Given the description of an element on the screen output the (x, y) to click on. 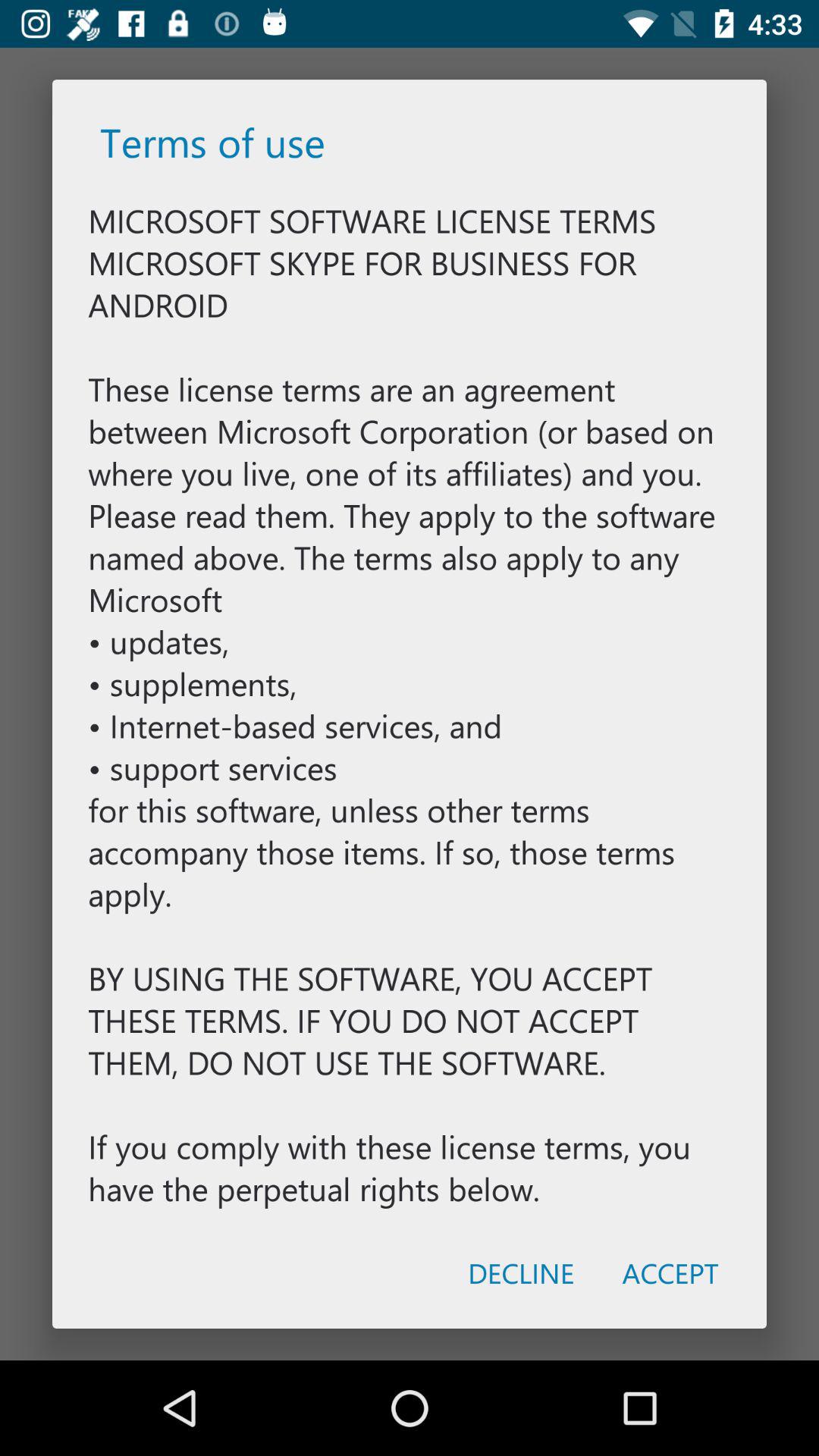
press the item to the right of the decline (670, 1272)
